Given the description of an element on the screen output the (x, y) to click on. 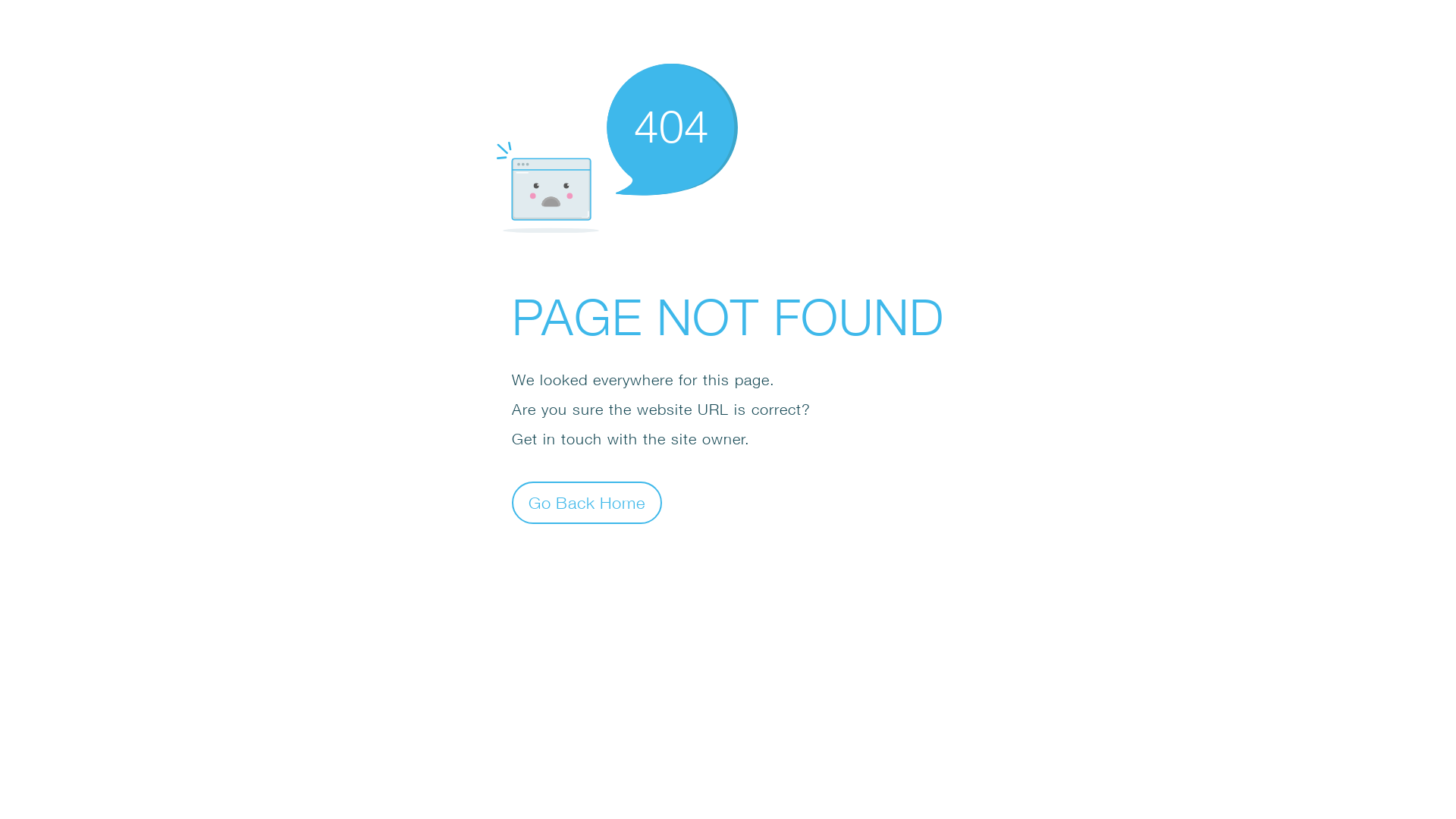
Go Back Home Element type: text (586, 502)
